Given the description of an element on the screen output the (x, y) to click on. 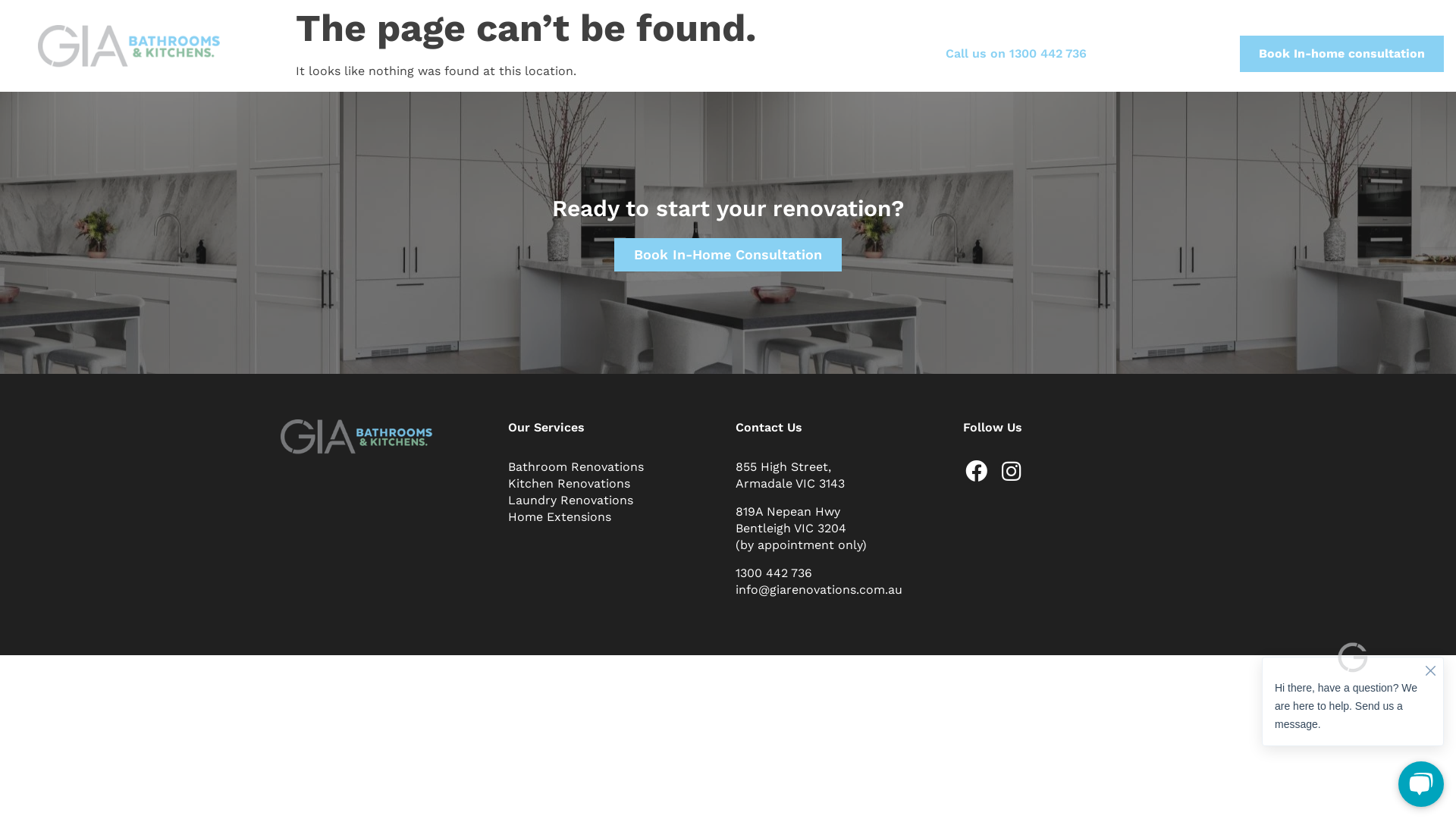
Call us on 1300 442 736 Element type: text (1010, 53)
Bathroom Renovations Element type: text (614, 466)
Our Services Element type: text (509, 53)
Book In-Home Consultation Element type: text (727, 254)
About Us Element type: text (406, 53)
Kitchen Renovations Element type: text (614, 482)
Projects Element type: text (617, 53)
Laundry Renovations Element type: text (614, 499)
Blog Element type: text (808, 53)
info@giarenovations.com.au Element type: text (818, 589)
Home Extensions Element type: text (614, 516)
Book In-home consultation Element type: text (1341, 53)
Before & After Element type: text (722, 53)
Contact Us Element type: text (885, 53)
1300 442 736 Element type: text (773, 572)
